Given the description of an element on the screen output the (x, y) to click on. 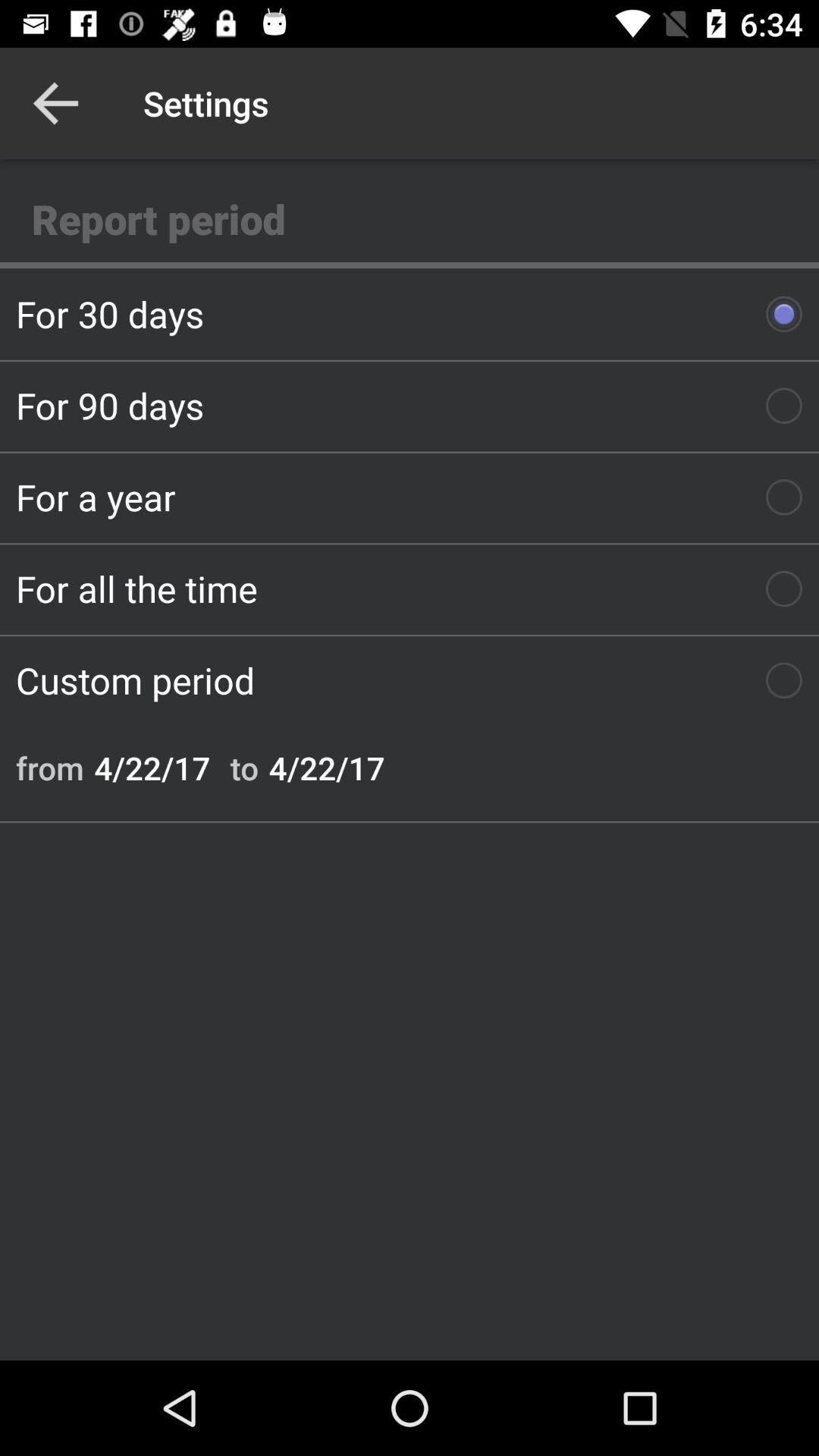
turn off icon below custom period icon (244, 767)
